Given the description of an element on the screen output the (x, y) to click on. 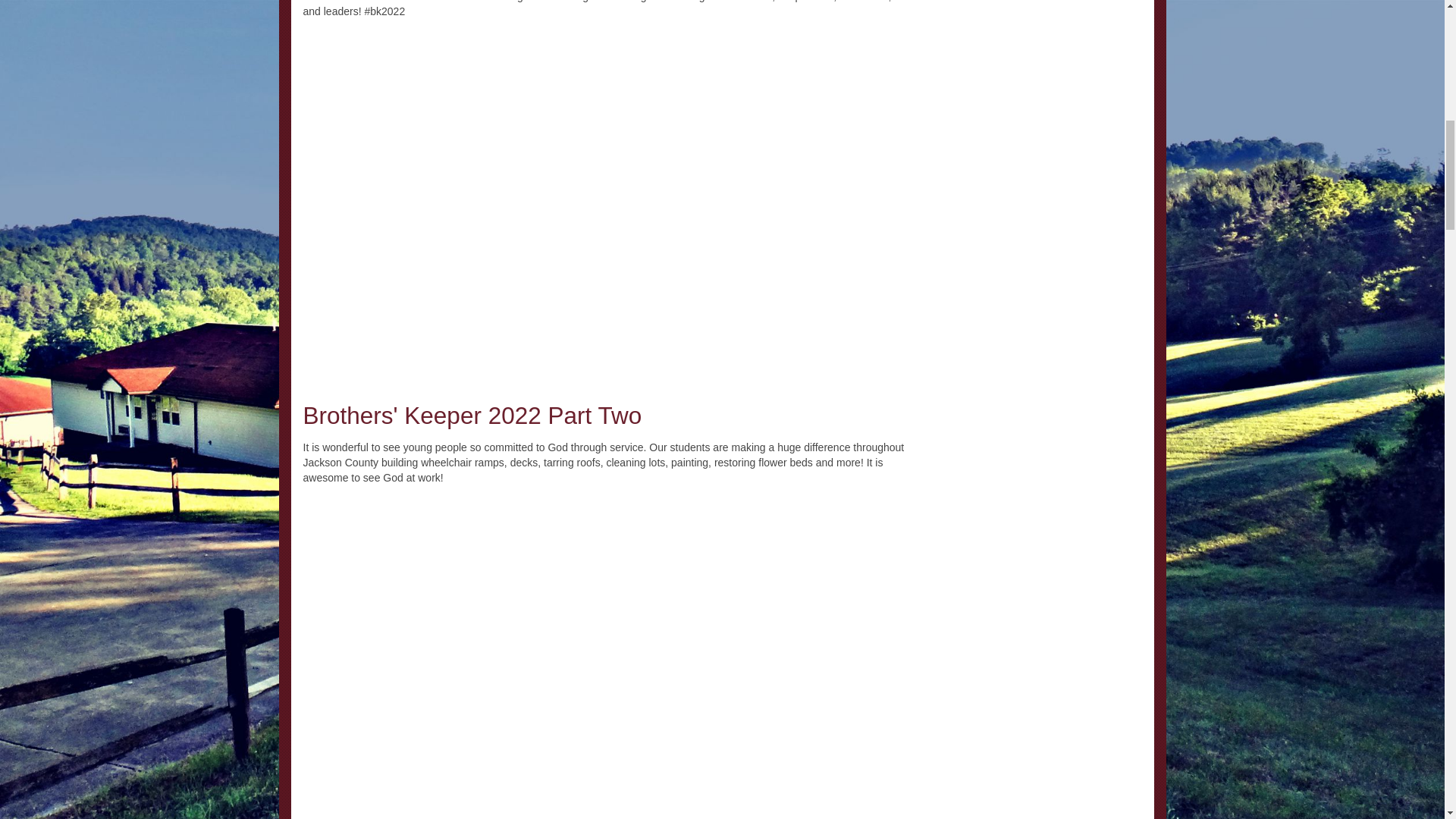
Brothers' Keeper 2022 Part Two (472, 415)
